Given the description of an element on the screen output the (x, y) to click on. 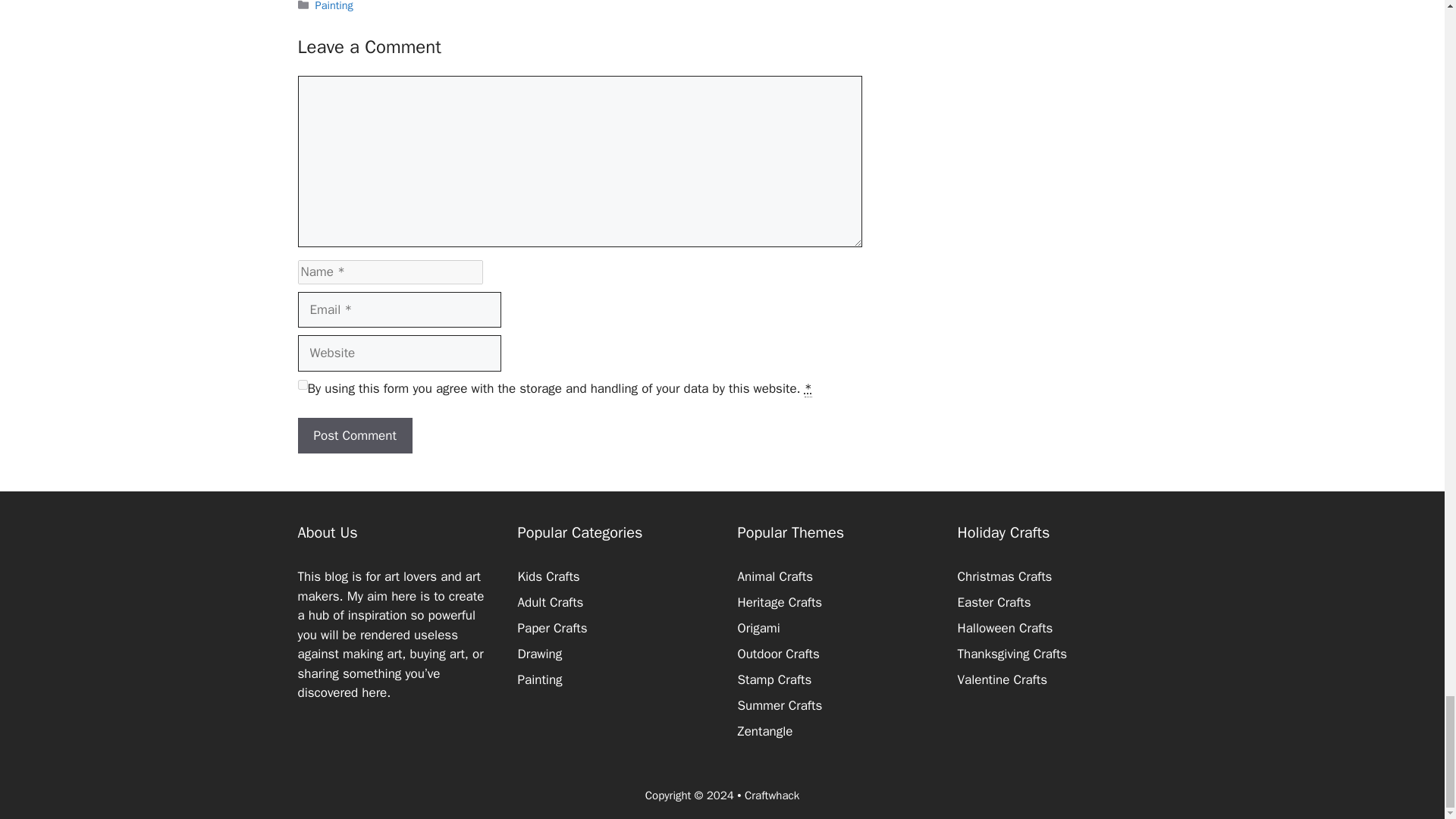
Post Comment (354, 435)
1 (302, 385)
You need to accept this checkbox (808, 388)
